Given the description of an element on the screen output the (x, y) to click on. 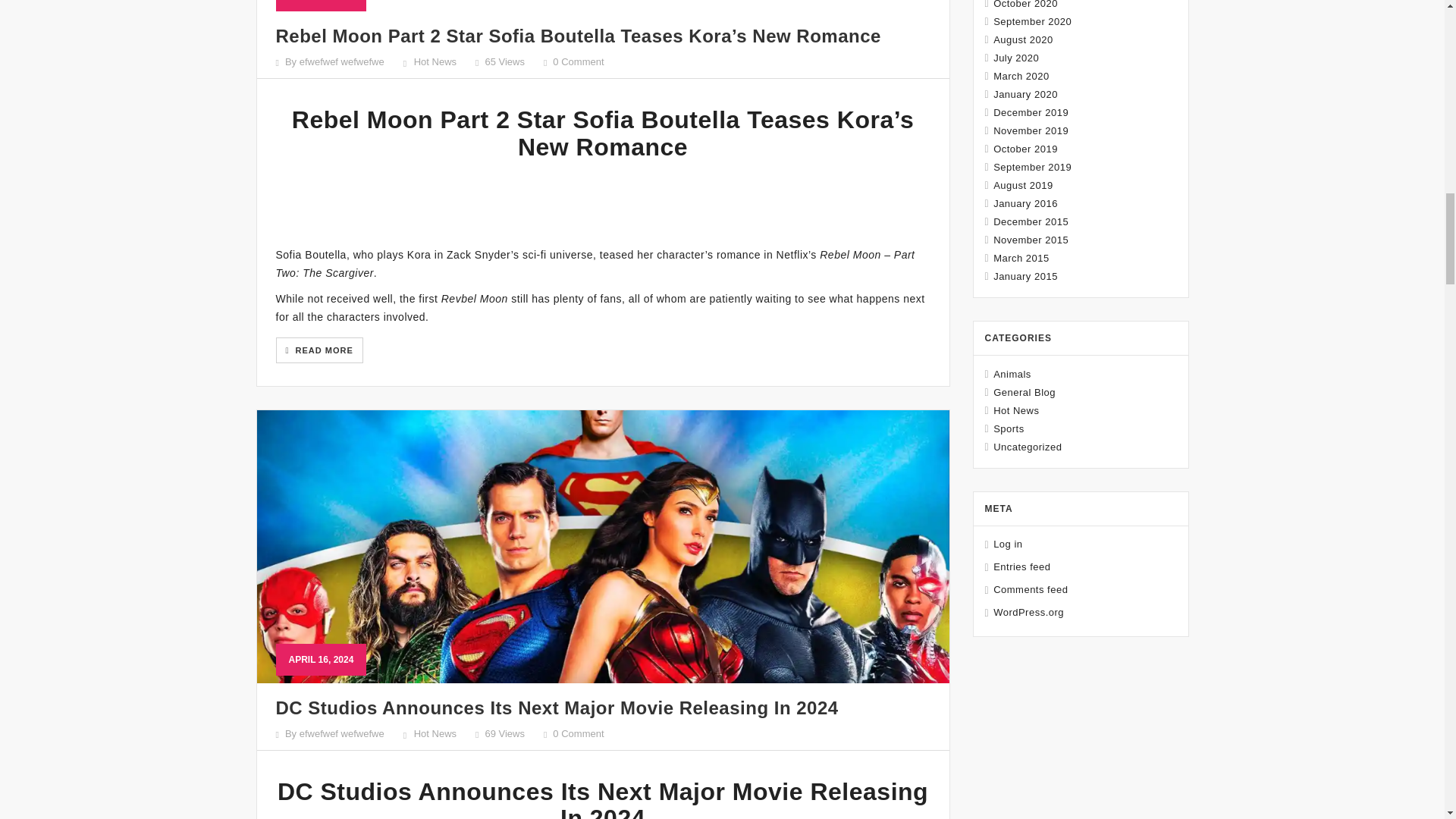
0 Comment (578, 61)
READ MORE (319, 350)
Hot News (435, 733)
0 Comment (578, 733)
DC Studios Announces Its Next Major Movie Releasing In 2024 (557, 707)
Hot News (435, 61)
